Given the description of an element on the screen output the (x, y) to click on. 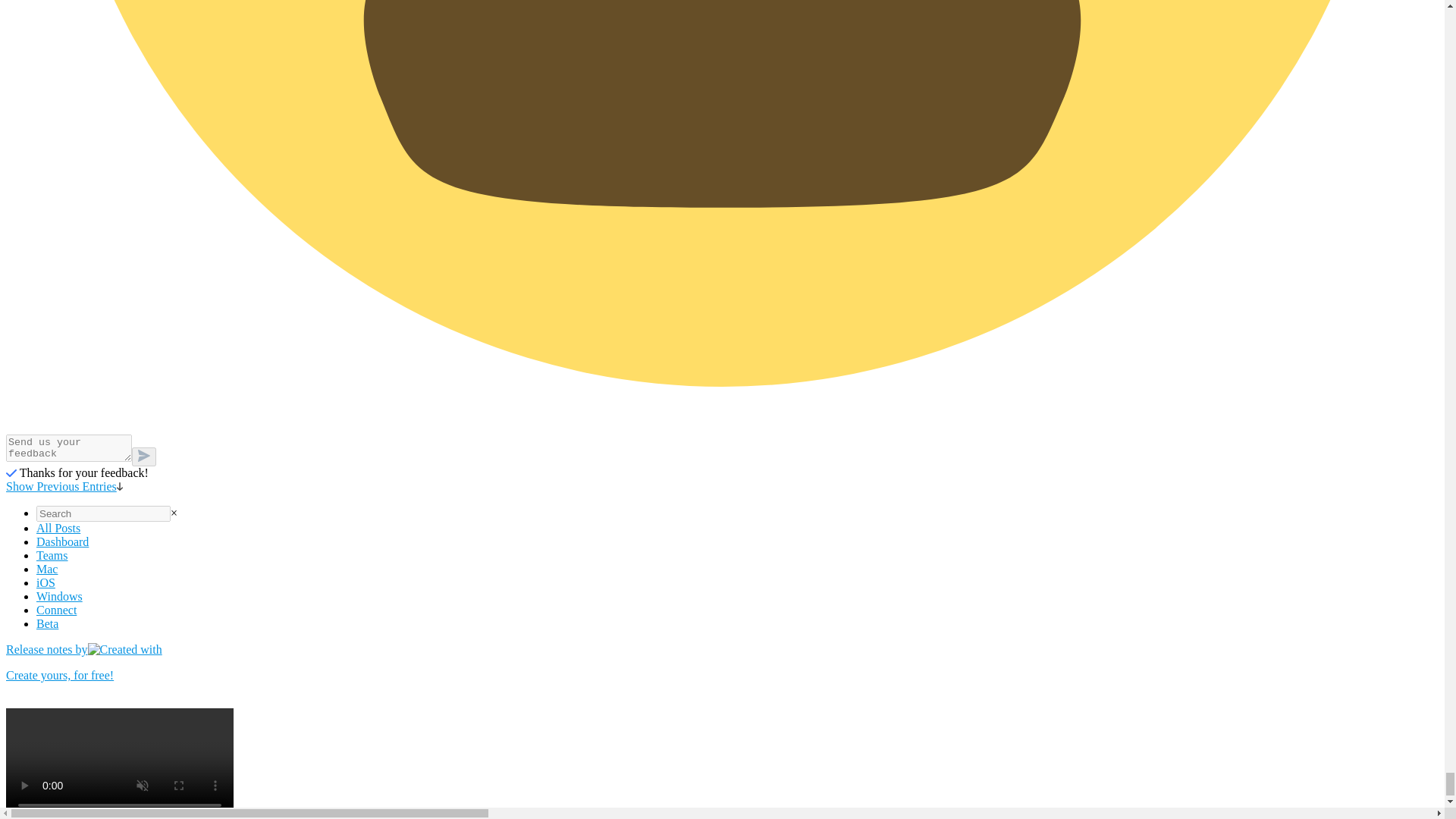
Submit Button (143, 456)
